Given the description of an element on the screen output the (x, y) to click on. 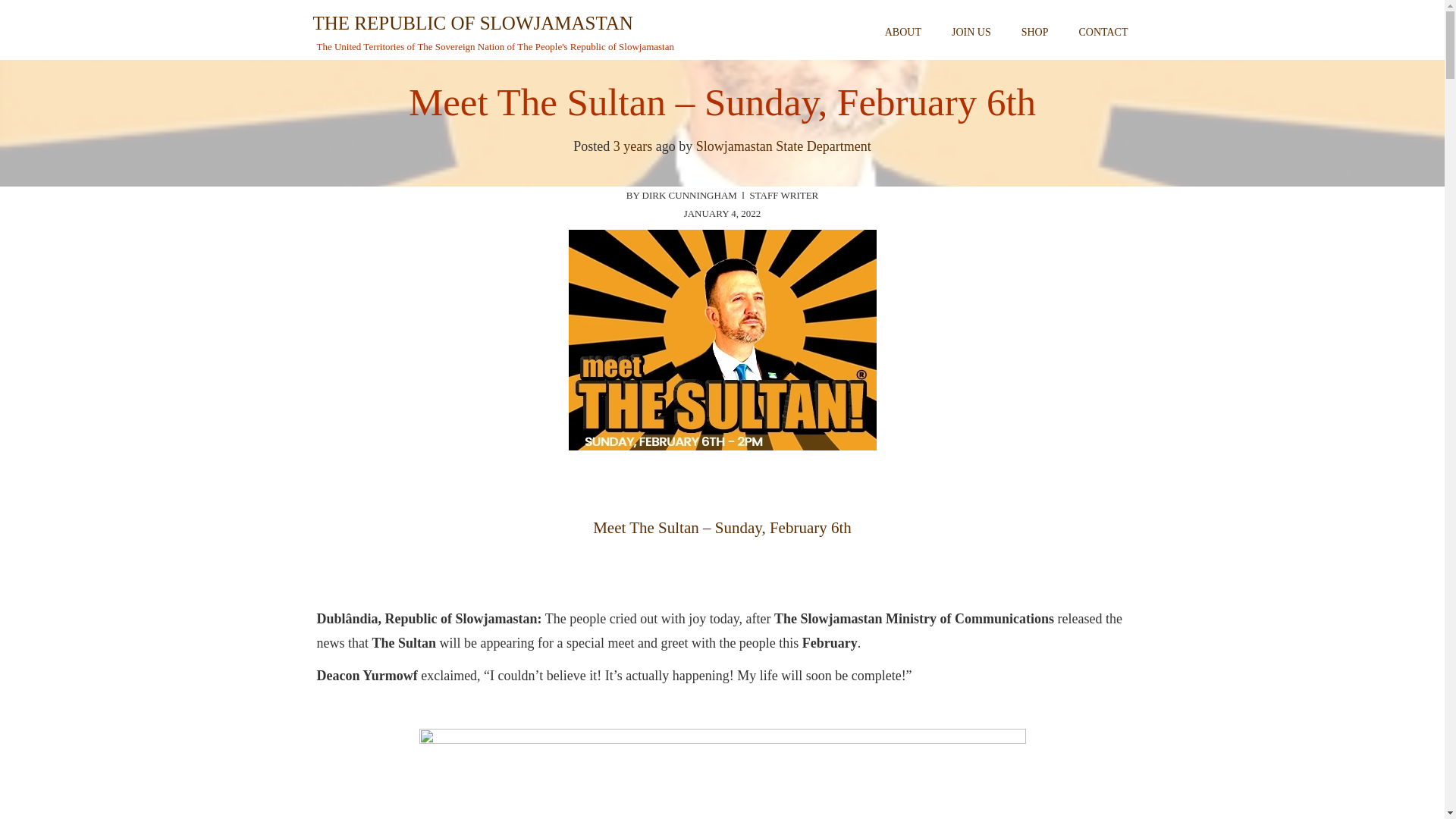
3 years (632, 145)
Slowjamastan State Department (782, 145)
CONTACT (1102, 32)
SHOP (1035, 32)
JOIN US (971, 32)
THE REPUBLIC OF SLOWJAMASTAN (472, 23)
ABOUT (902, 32)
